Given the description of an element on the screen output the (x, y) to click on. 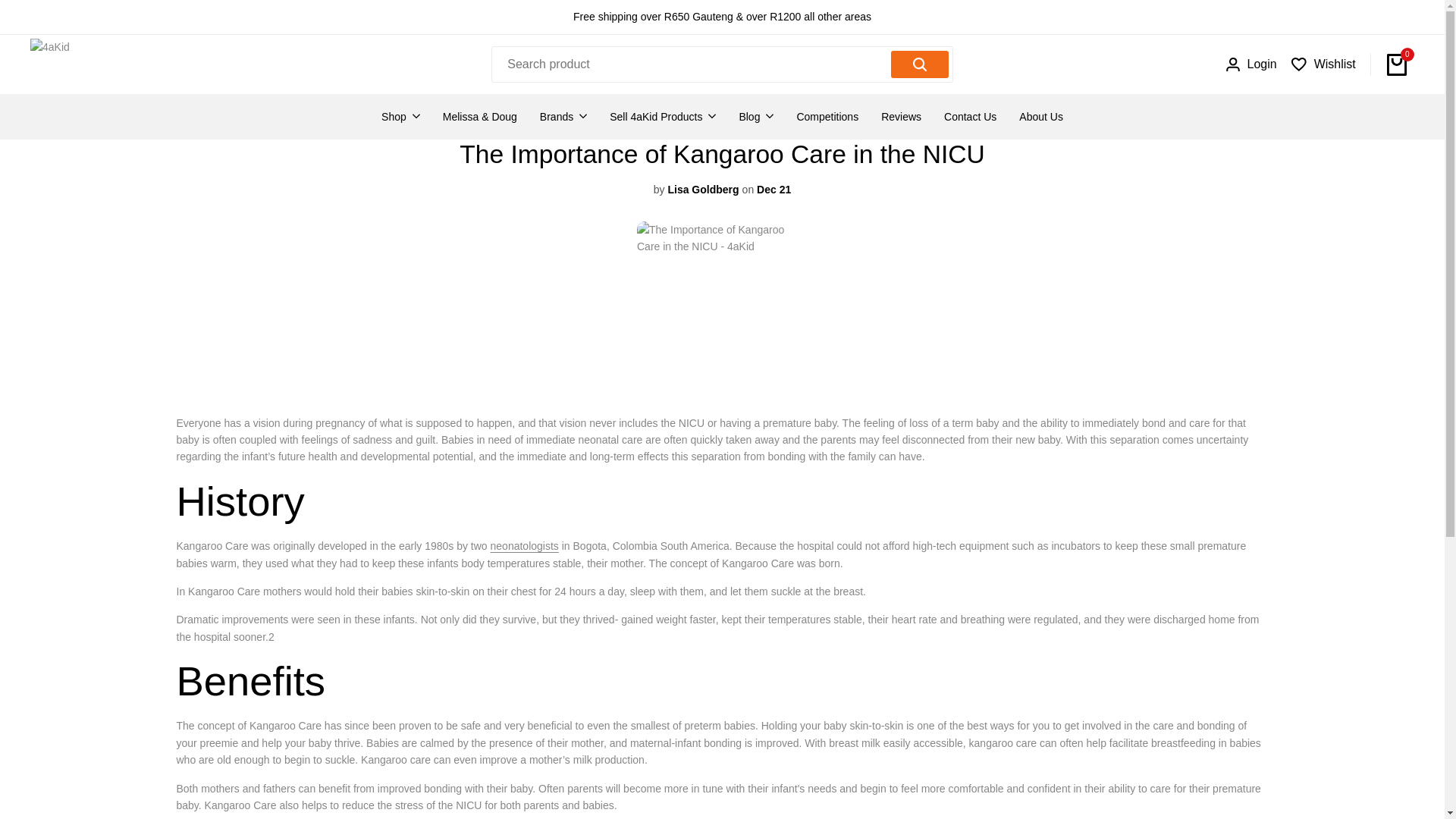
About Us (1040, 116)
Contact Us (969, 116)
Wishlist (1323, 64)
The Importance of Kangaroo Care in the NICU (524, 545)
0 (1396, 64)
neonatologists (524, 545)
Competitions (827, 116)
Reviews (900, 116)
Login (1250, 64)
